Given the description of an element on the screen output the (x, y) to click on. 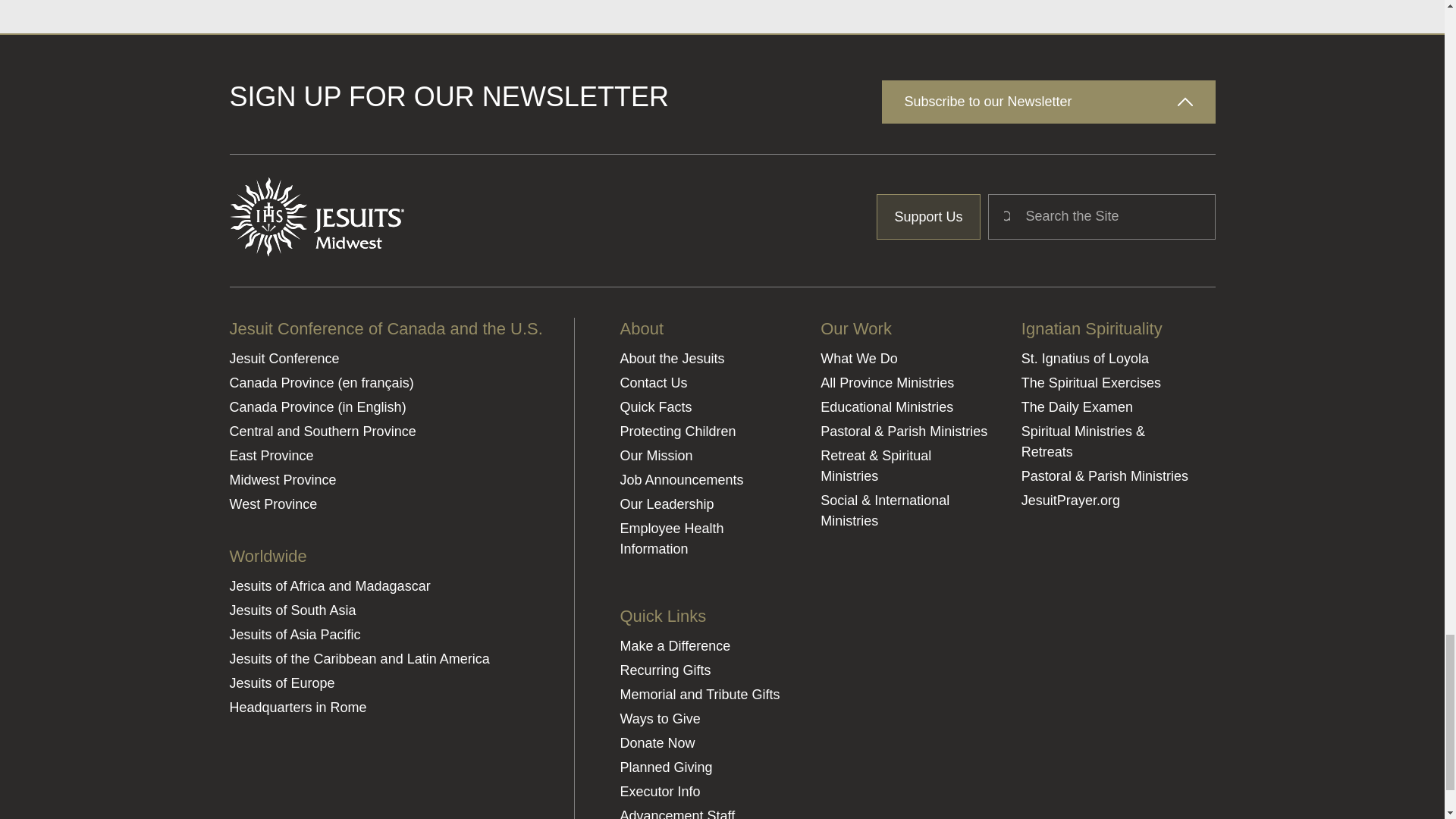
Midwest Province (385, 480)
Support Us (927, 217)
Jesuit Conference (385, 358)
Central and Southern Province (385, 431)
Subscribe (1160, 460)
West Province (385, 504)
East Province (385, 455)
